Given the description of an element on the screen output the (x, y) to click on. 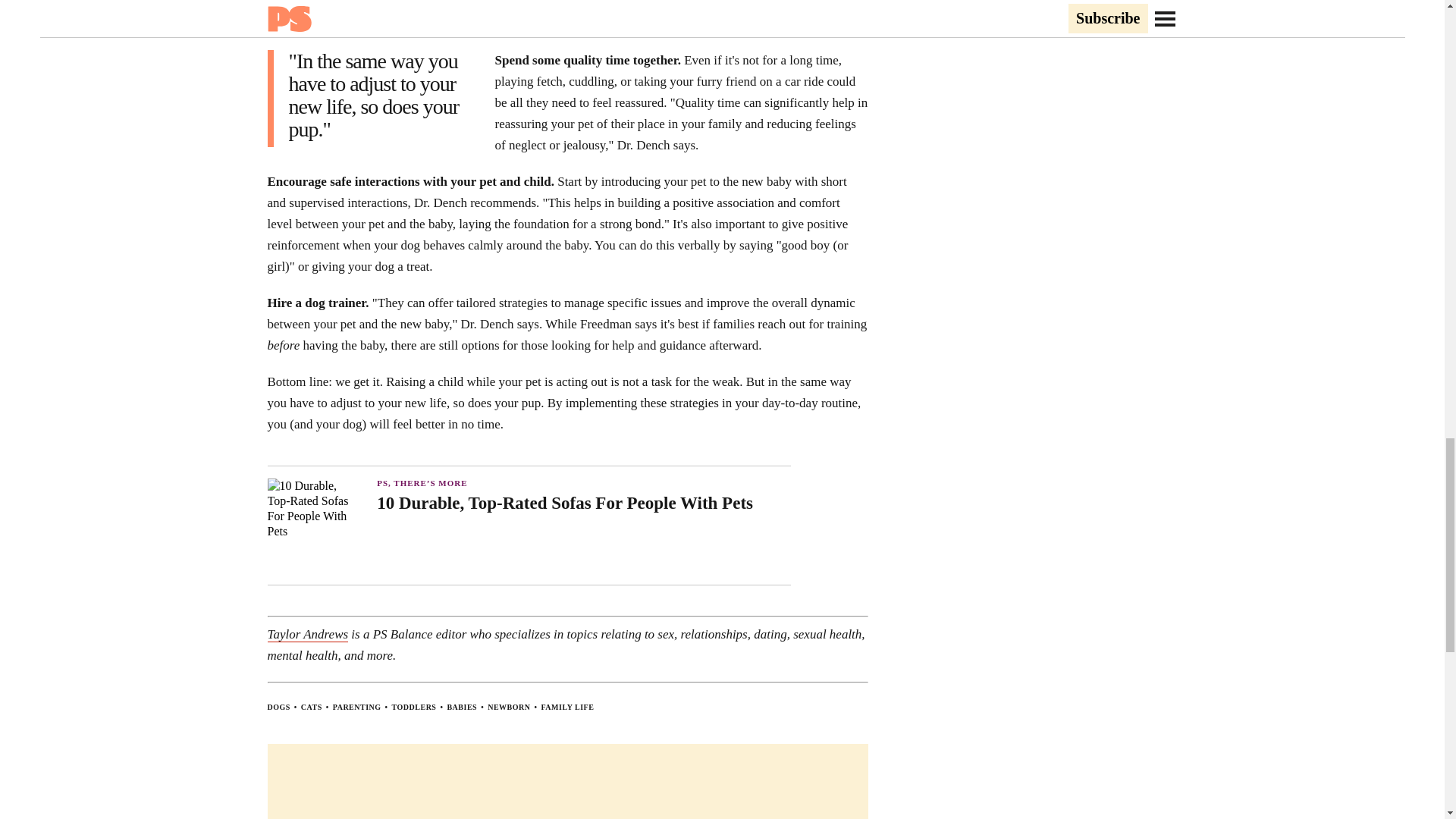
PARENTING (357, 706)
10 Durable, Top-Rated Sofas For People With Pets (583, 502)
CATS (311, 706)
BABIES (461, 706)
DOGS (277, 706)
FAMILY LIFE (567, 706)
Taylor Andrews (306, 634)
NEWBORN (508, 706)
TODDLERS (413, 706)
